Given the description of an element on the screen output the (x, y) to click on. 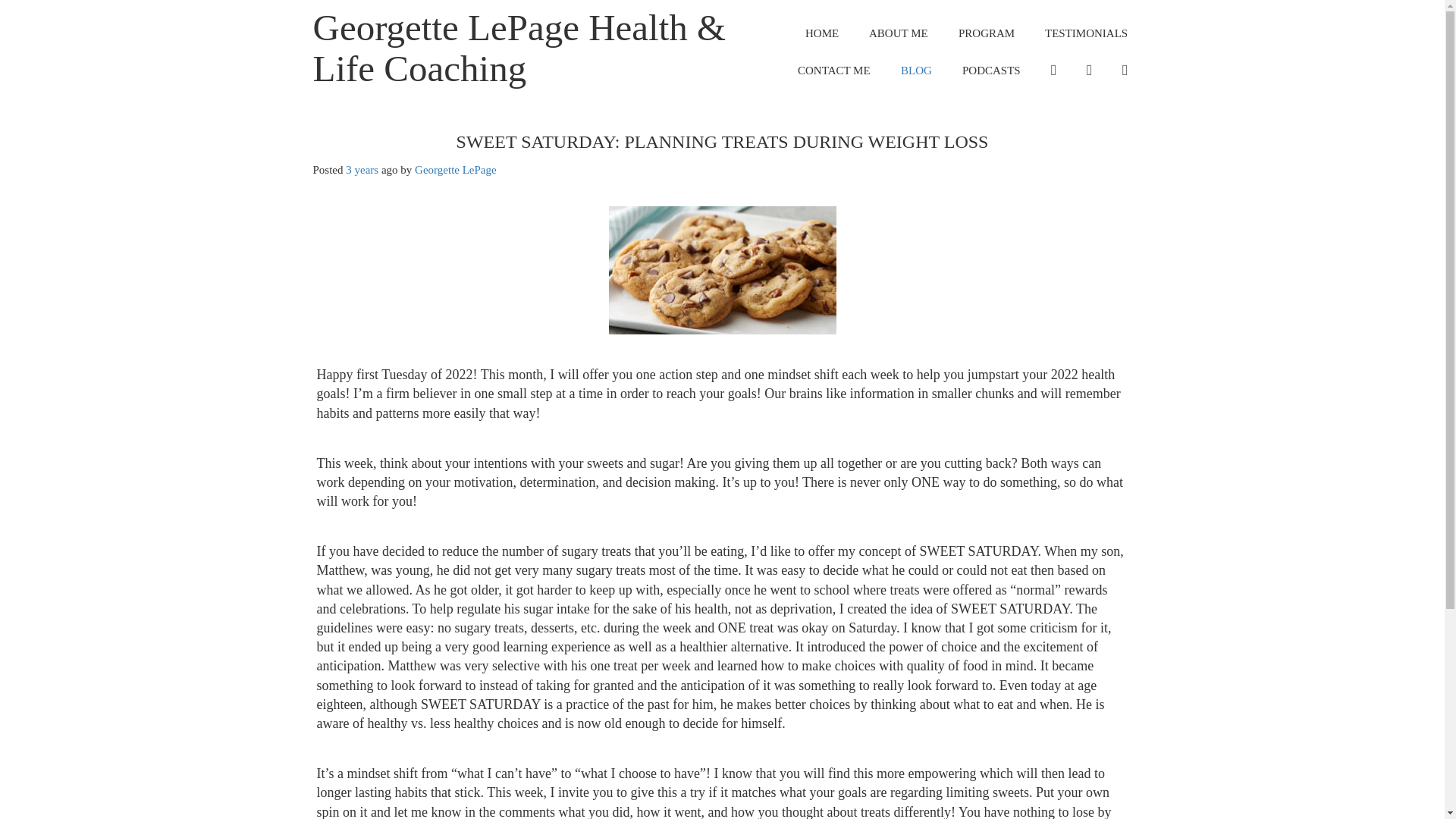
Georgette LePage (455, 169)
BLOG (916, 70)
HOME (821, 33)
CONTACT ME (834, 70)
3 years (362, 169)
PROGRAM (986, 33)
TESTIMONIALS (1085, 33)
TWITTER (1124, 70)
ABOUT ME (898, 33)
